Given the description of an element on the screen output the (x, y) to click on. 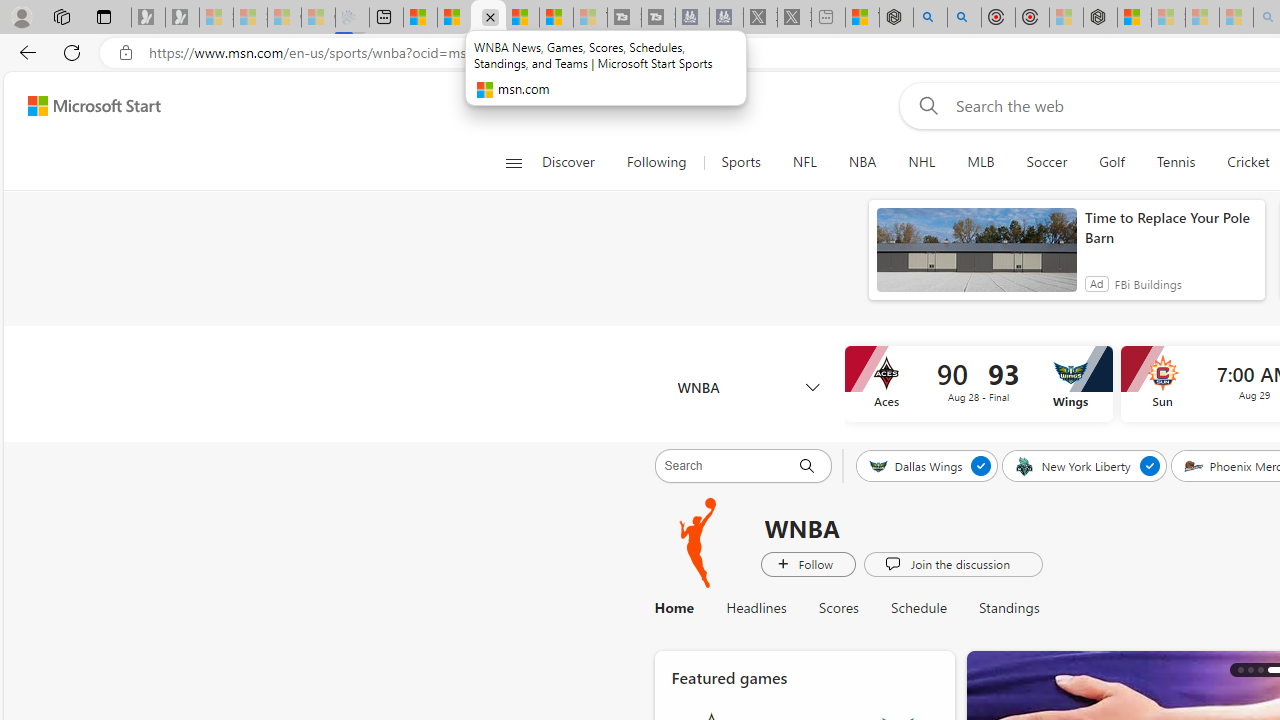
X - Sleeping (794, 17)
Schedule (919, 607)
Follow WNBA 2024 (808, 563)
New York Liberty (1074, 465)
Schedule (919, 607)
Unfollow Dallas Wings (981, 465)
Home (674, 607)
Web search (924, 105)
poe ++ standard - Search (964, 17)
